Given the description of an element on the screen output the (x, y) to click on. 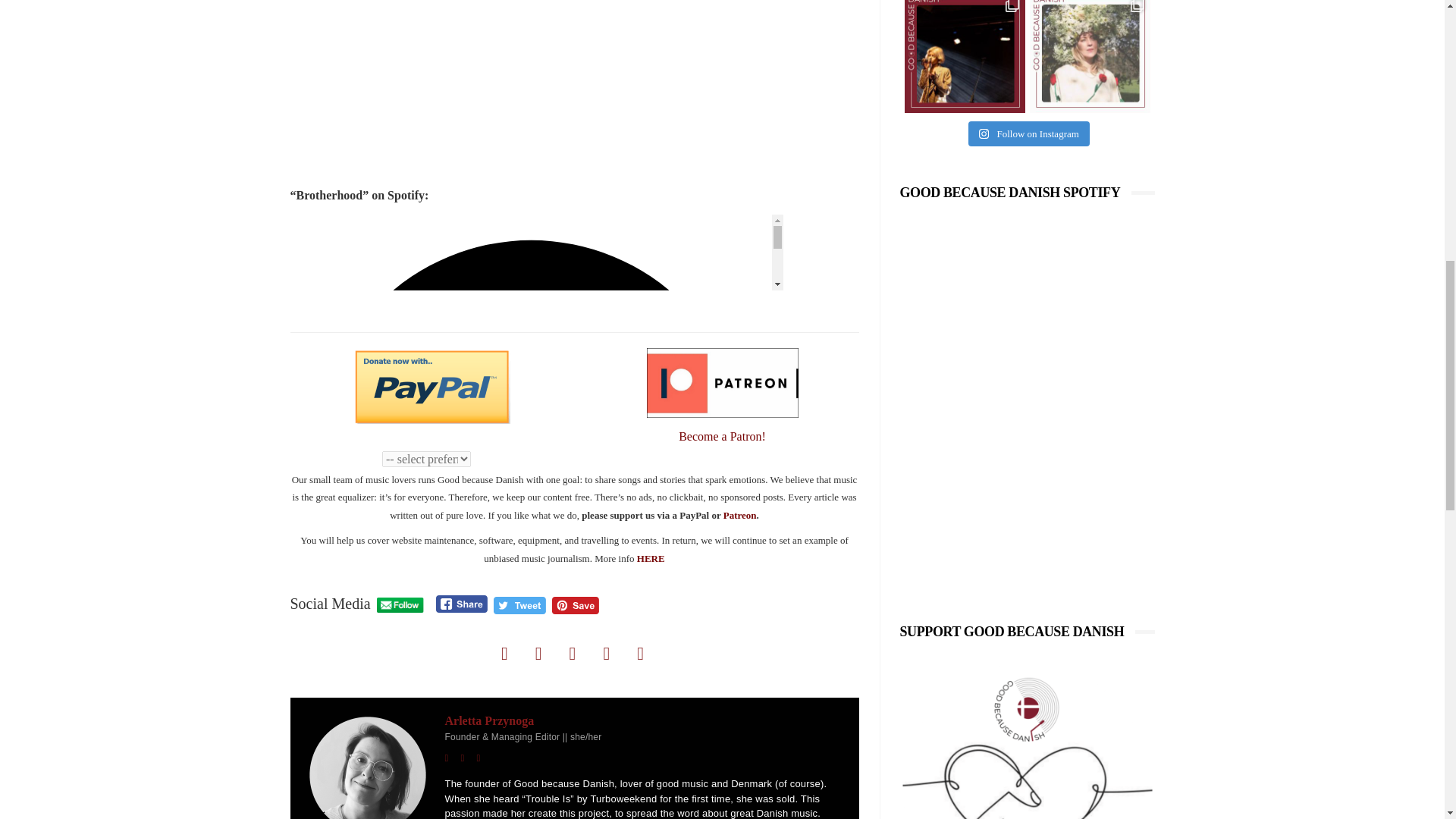
Tweet (519, 605)
Facebook Share (461, 603)
Pin Share (574, 605)
